Given the description of an element on the screen output the (x, y) to click on. 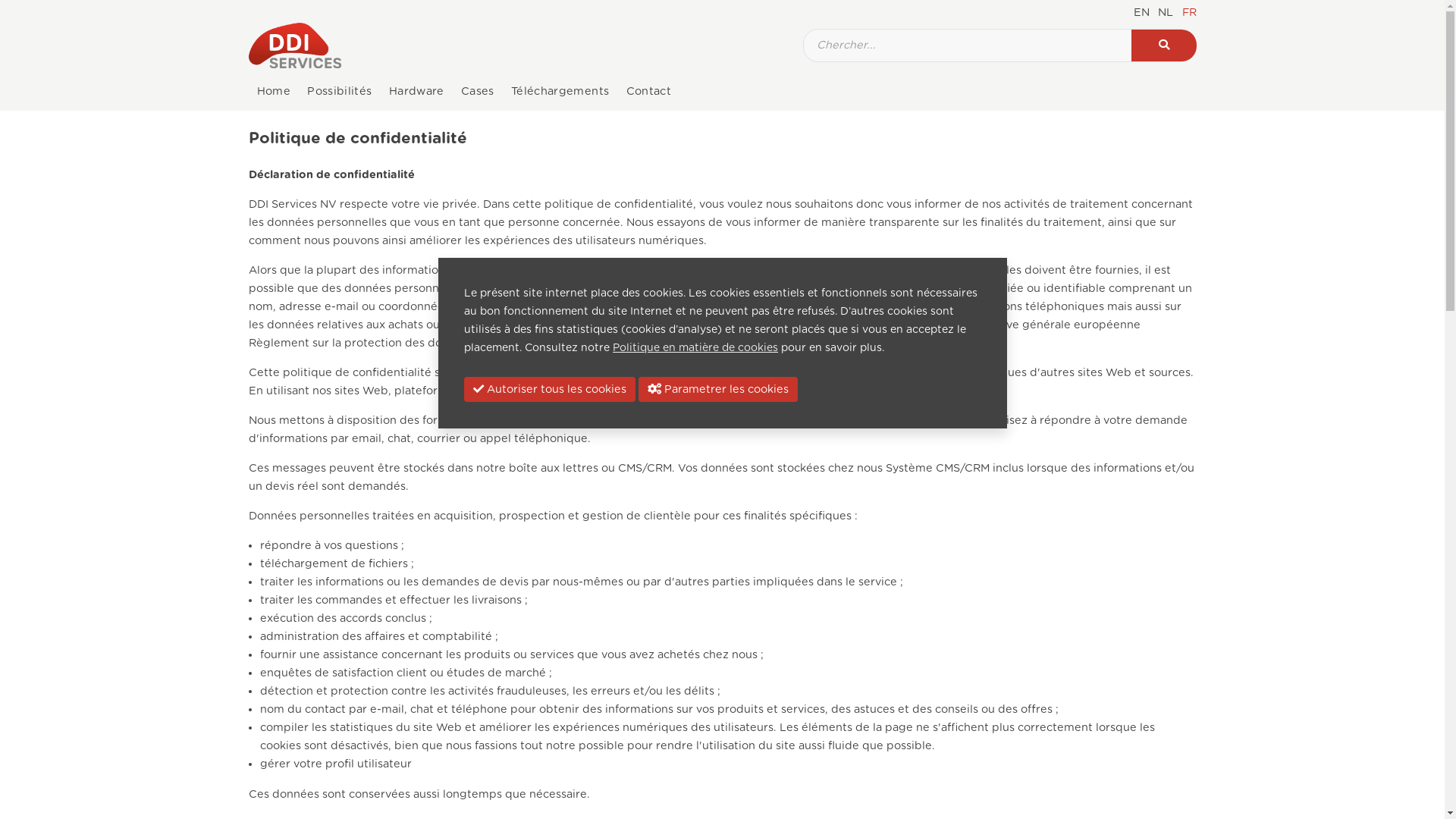
Parametrer les cookies Element type: text (717, 389)
Cases Element type: text (477, 91)
Hardware Element type: text (416, 91)
Autoriser tous les cookies Element type: text (549, 389)
Home Element type: text (273, 91)
Contact Element type: text (648, 91)
